Given the description of an element on the screen output the (x, y) to click on. 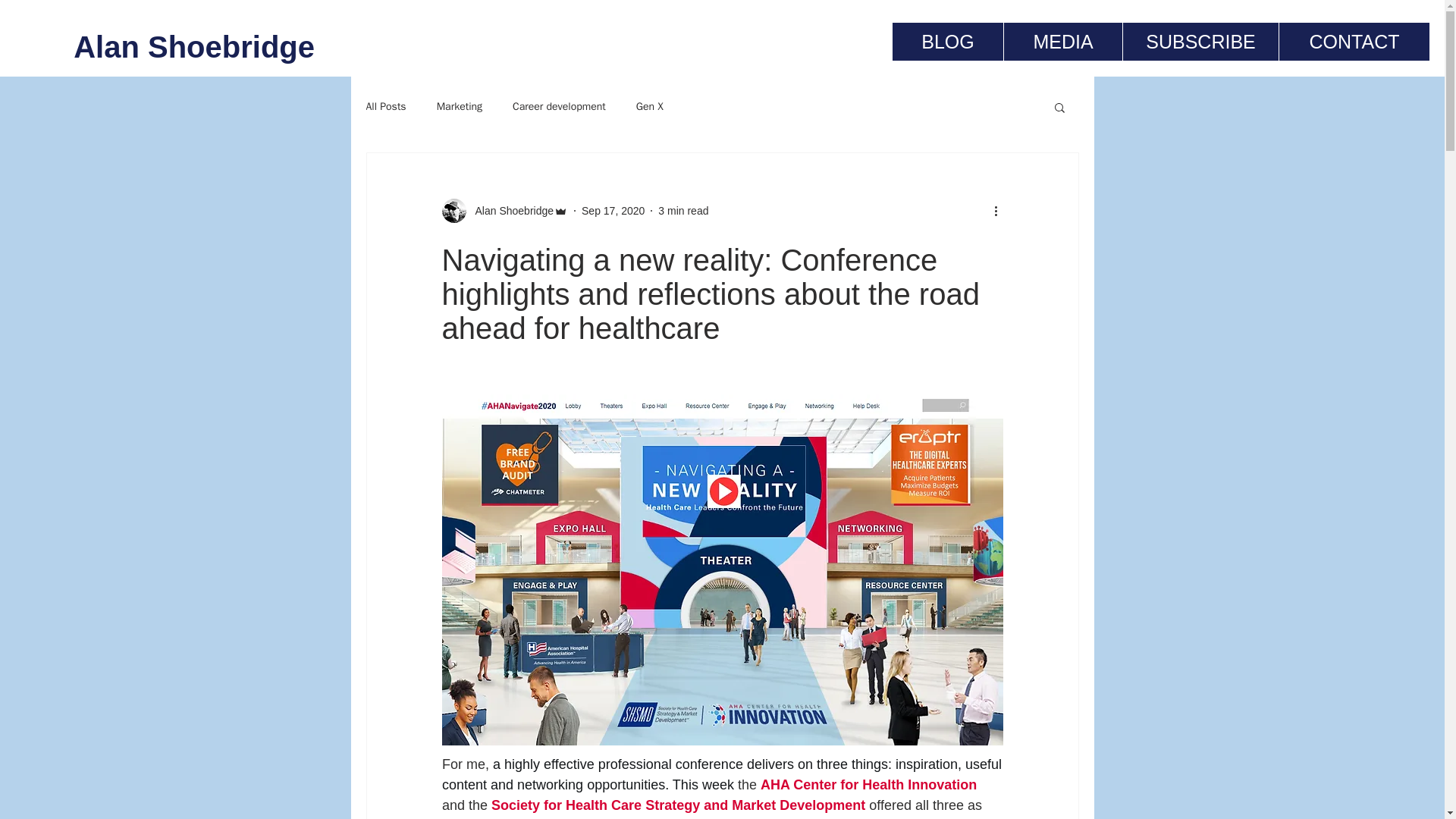
BLOG (947, 41)
Alan Shoebridge (509, 211)
Sep 17, 2020 (612, 210)
3 min read (682, 210)
Gen X (649, 106)
MEDIA (1062, 41)
Society for Health Care Strategy and Market Development (678, 805)
CONTACT (1353, 41)
All Posts (385, 106)
Career development (558, 106)
AHA Center for Health Innovation (867, 784)
Alan Shoebridge (164, 46)
Marketing (458, 106)
SUBSCRIBE (1200, 41)
